Given the description of an element on the screen output the (x, y) to click on. 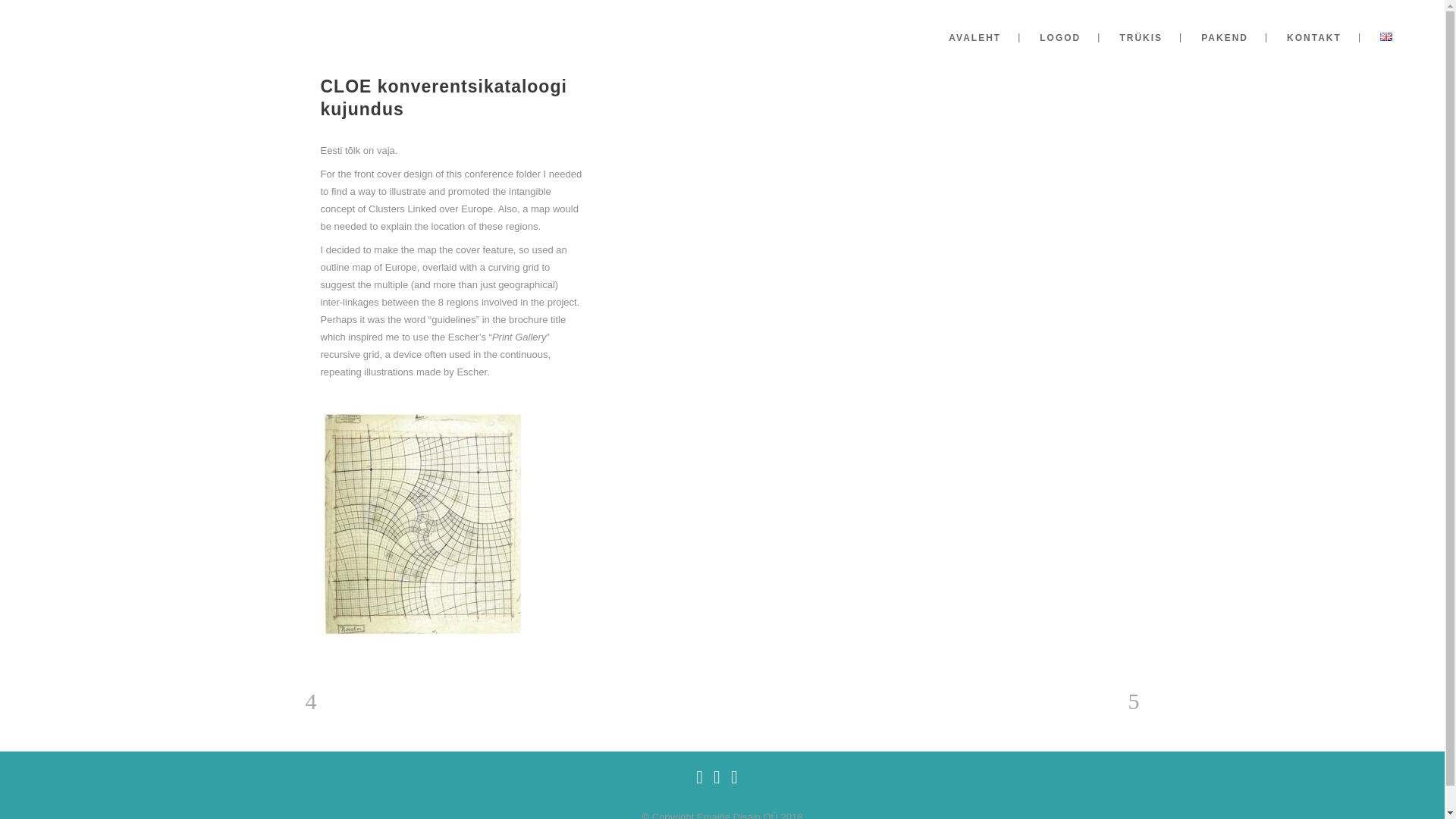
AVALEHT (974, 38)
KONTAKT (1313, 38)
PAKEND (1224, 38)
LOGOD (1060, 38)
